Given the description of an element on the screen output the (x, y) to click on. 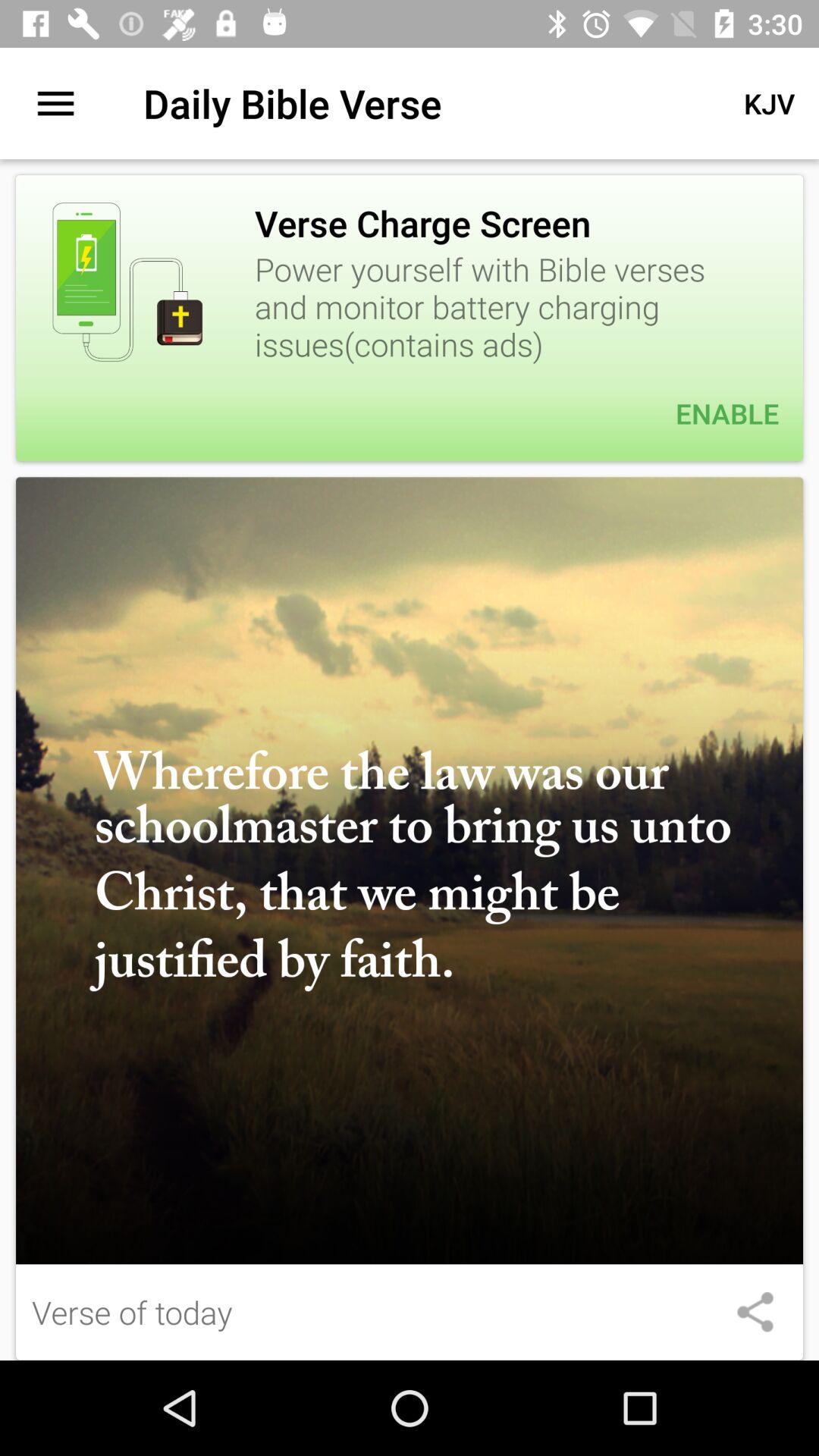
launch the icon above the power yourself with item (769, 103)
